Given the description of an element on the screen output the (x, y) to click on. 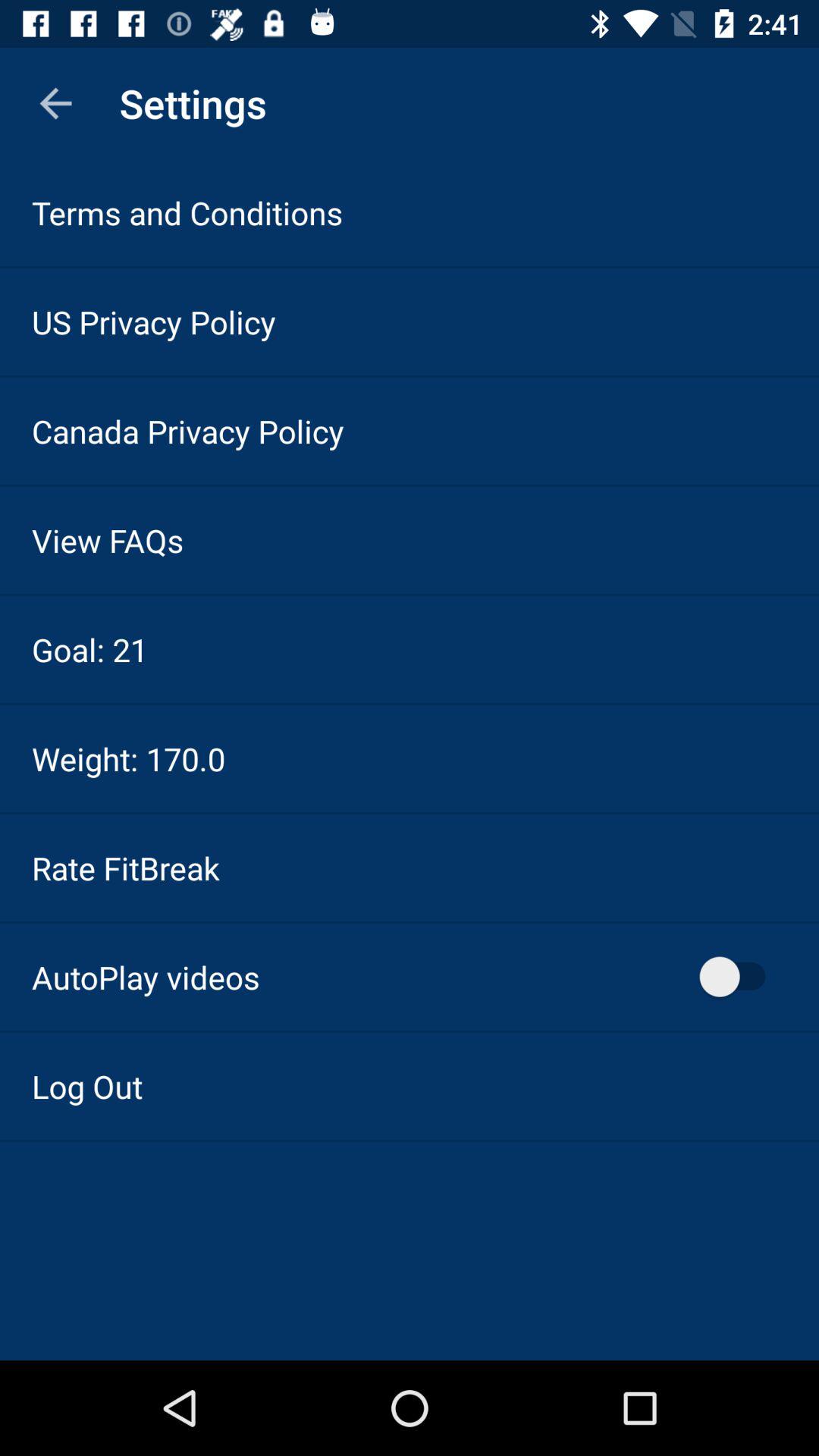
launch icon above us privacy policy (186, 212)
